Given the description of an element on the screen output the (x, y) to click on. 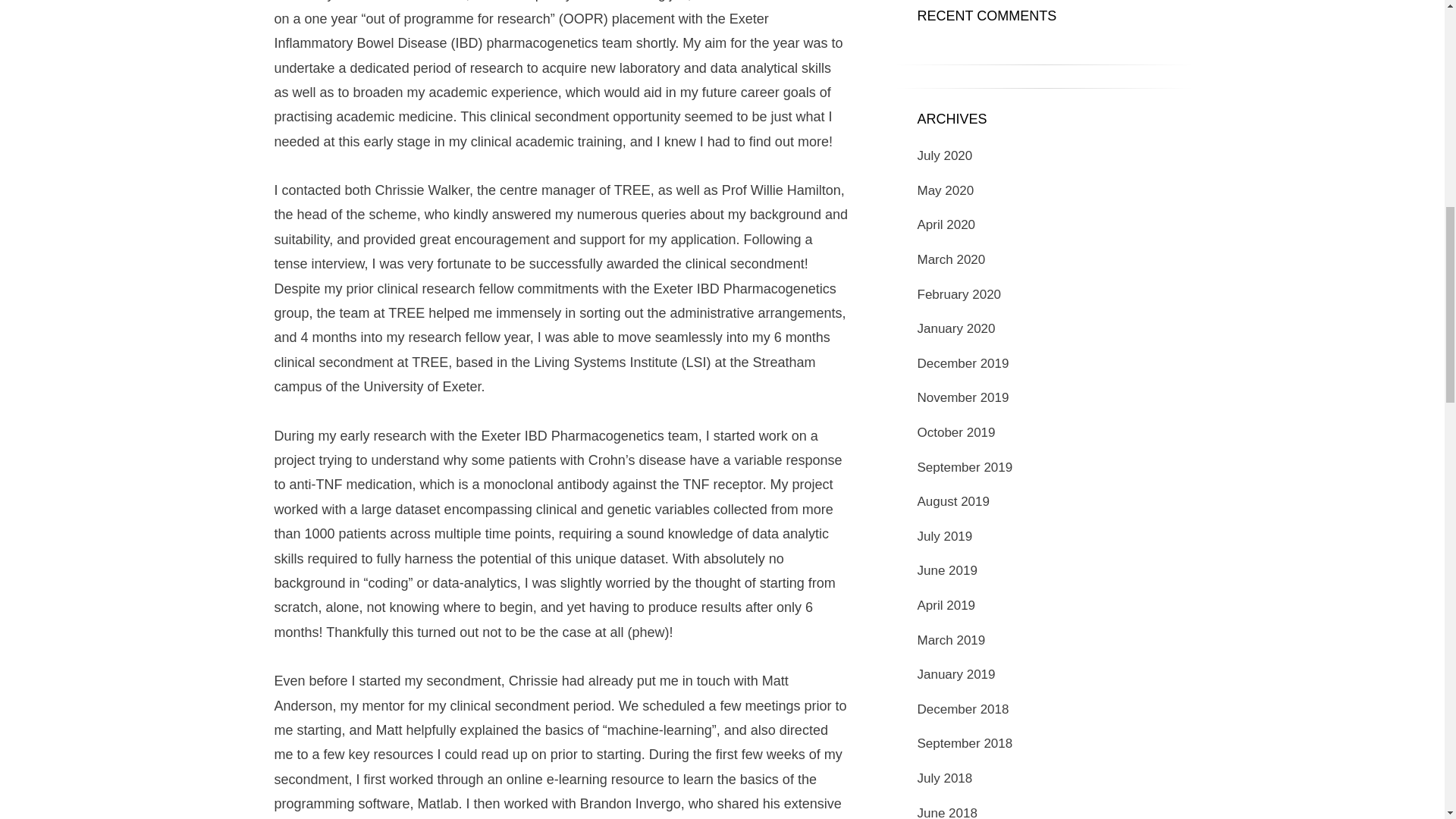
September 2018 (965, 743)
July 2019 (944, 536)
April 2020 (946, 224)
September 2019 (965, 467)
January 2020 (956, 328)
December 2018 (963, 708)
August 2019 (953, 501)
March 2020 (951, 259)
October 2019 (956, 432)
June 2019 (946, 570)
July 2020 (944, 155)
January 2019 (956, 674)
December 2019 (963, 363)
February 2020 (959, 294)
April 2019 (946, 605)
